Given the description of an element on the screen output the (x, y) to click on. 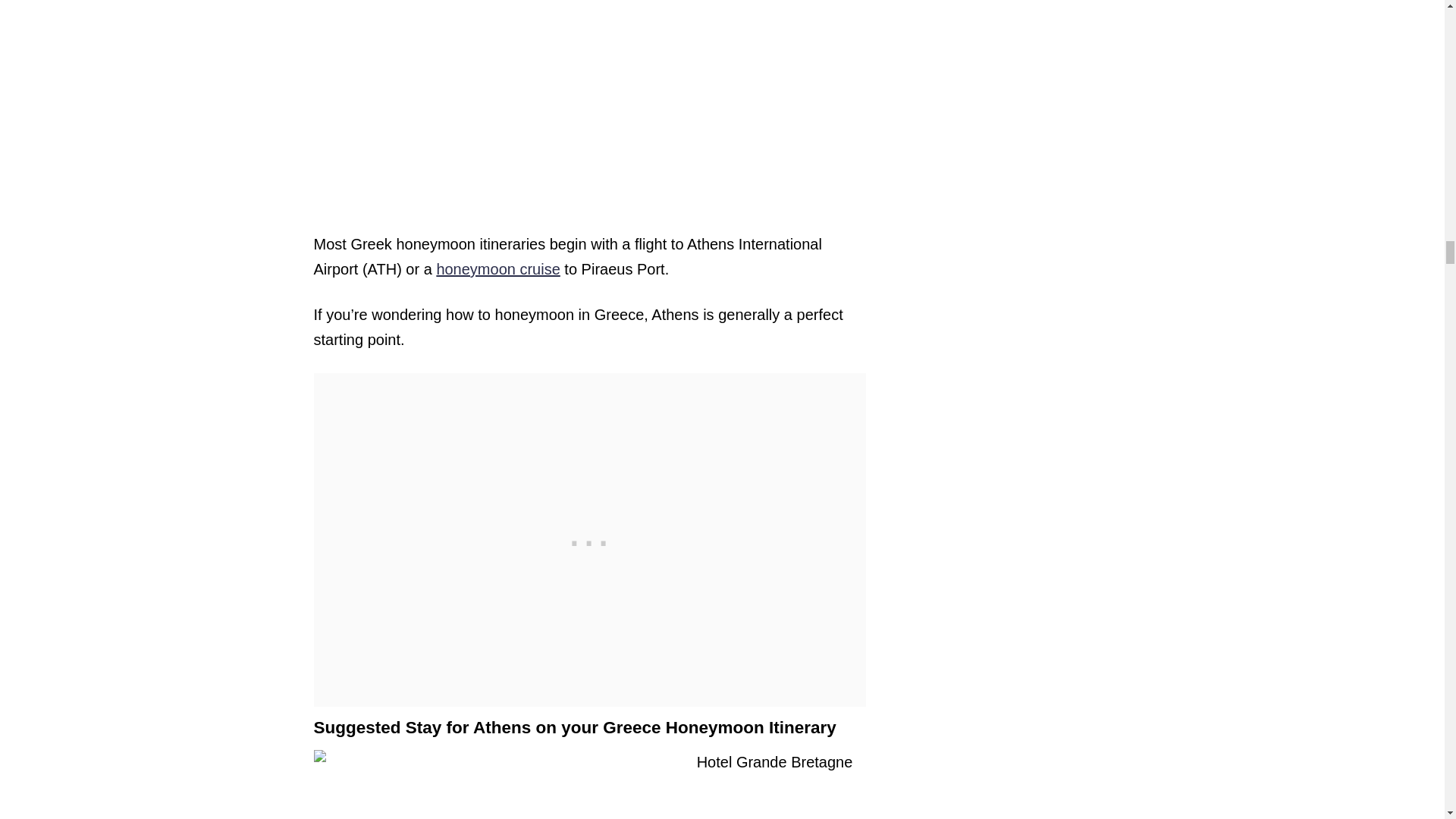
honeymoon cruise (497, 269)
